Given the description of an element on the screen output the (x, y) to click on. 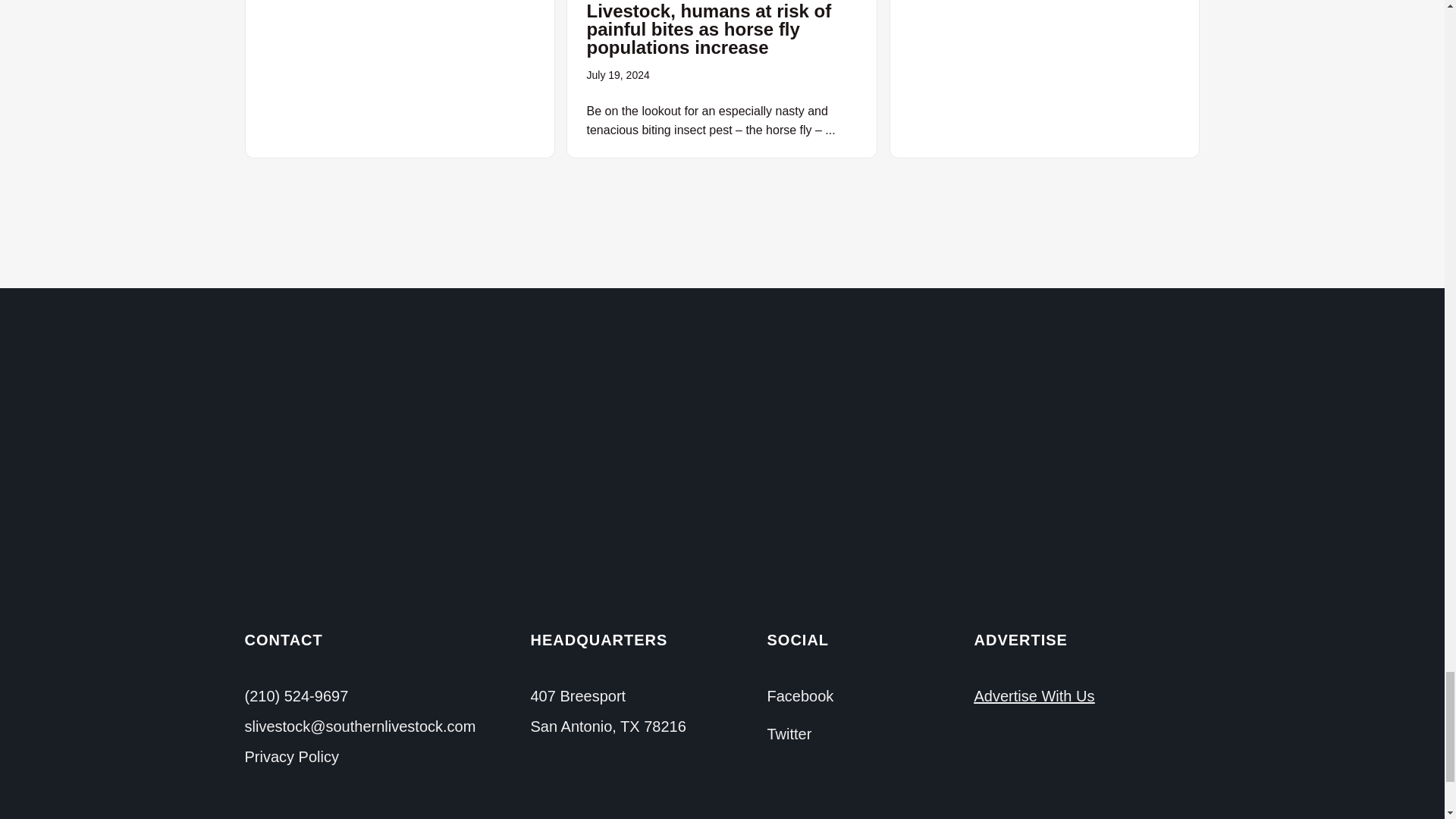
View Box Content (399, 79)
